Given the description of an element on the screen output the (x, y) to click on. 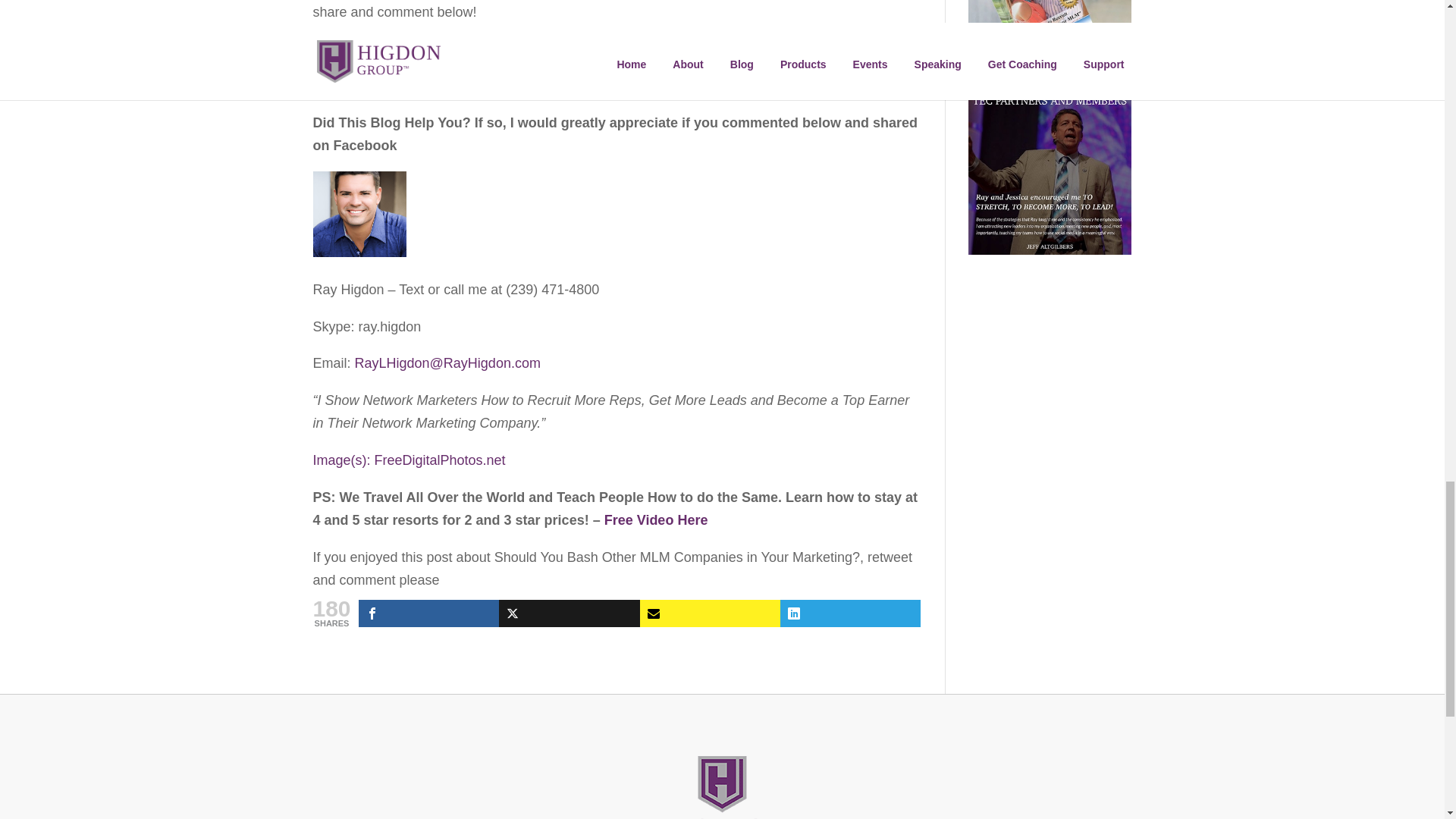
Facebook (428, 613)
Twitter (569, 613)
Free Video Here (655, 519)
higdon-group-footer-logo (721, 787)
